Given the description of an element on the screen output the (x, y) to click on. 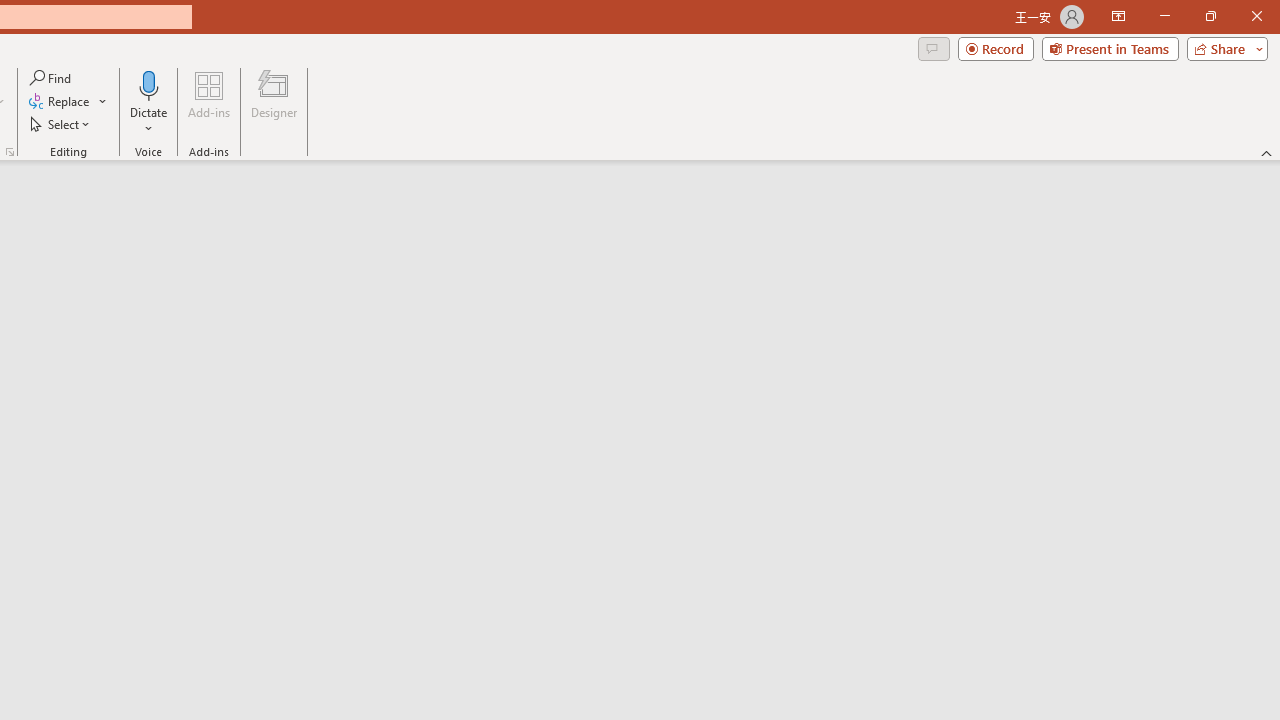
Find... (51, 78)
Select (61, 124)
